Given the description of an element on the screen output the (x, y) to click on. 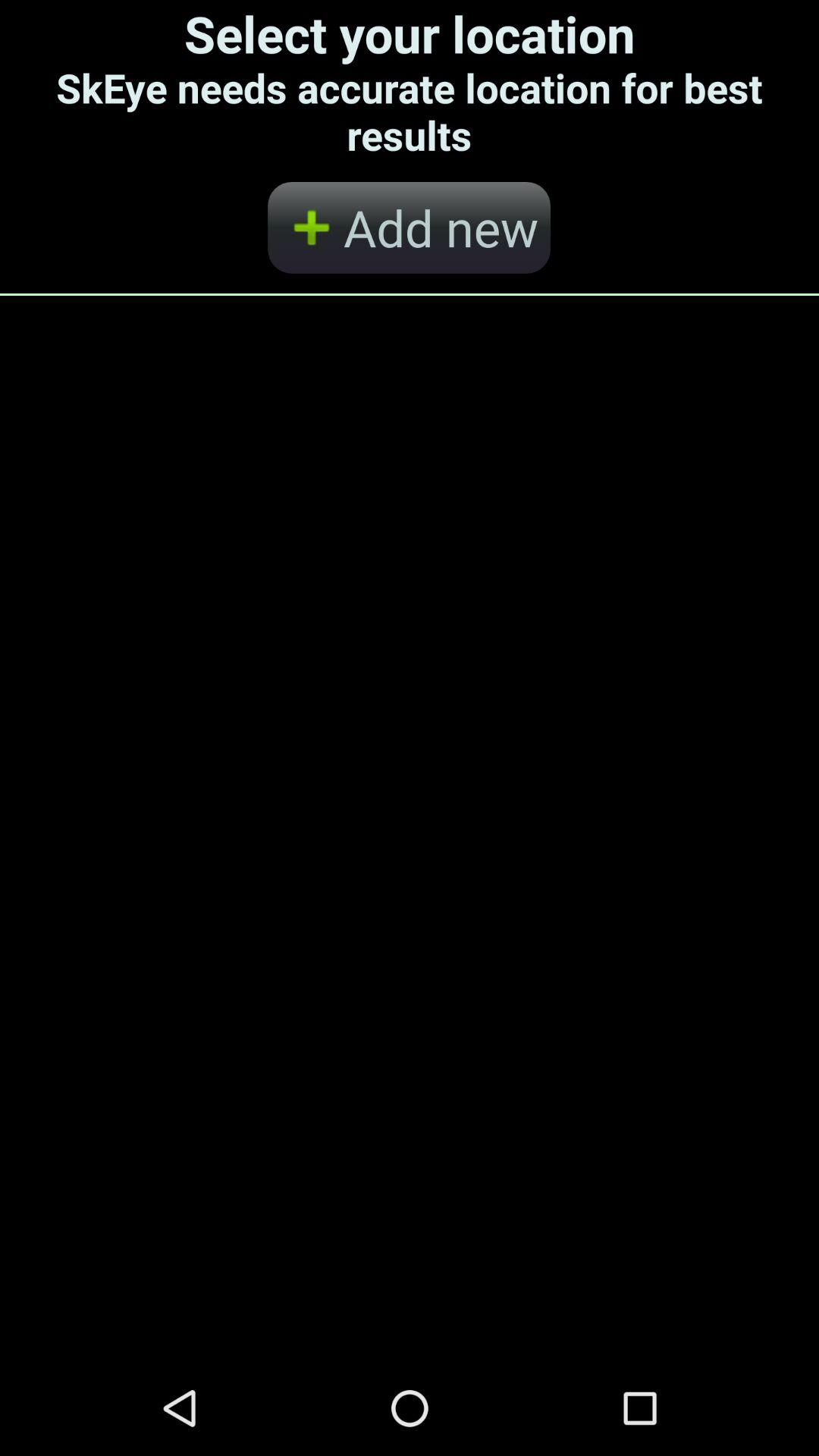
turn on the app below the select your location (408, 227)
